Given the description of an element on the screen output the (x, y) to click on. 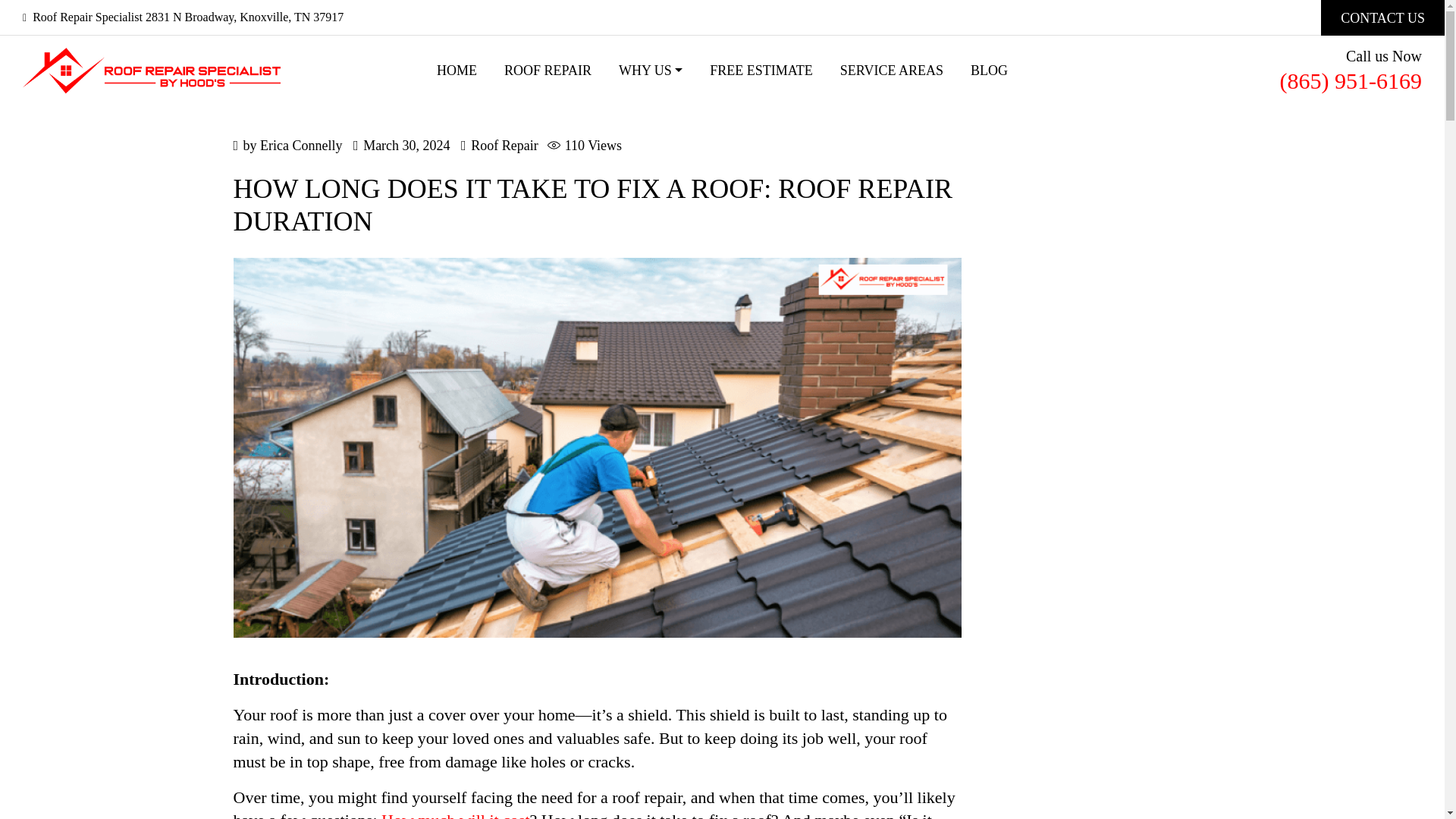
How much will it cost (455, 814)
Roof Repair Specialist (152, 70)
Free Estimate (761, 71)
Erica Connelly (301, 145)
Blog (989, 71)
Home (456, 71)
Service Areas (891, 71)
SERVICE AREAS (891, 71)
Roof Repair (503, 145)
ROOF REPAIR (547, 71)
Roof Repair (547, 71)
CONTACT US (1382, 18)
FREE ESTIMATE (761, 71)
HOME (456, 71)
WHY US (650, 71)
